Given the description of an element on the screen output the (x, y) to click on. 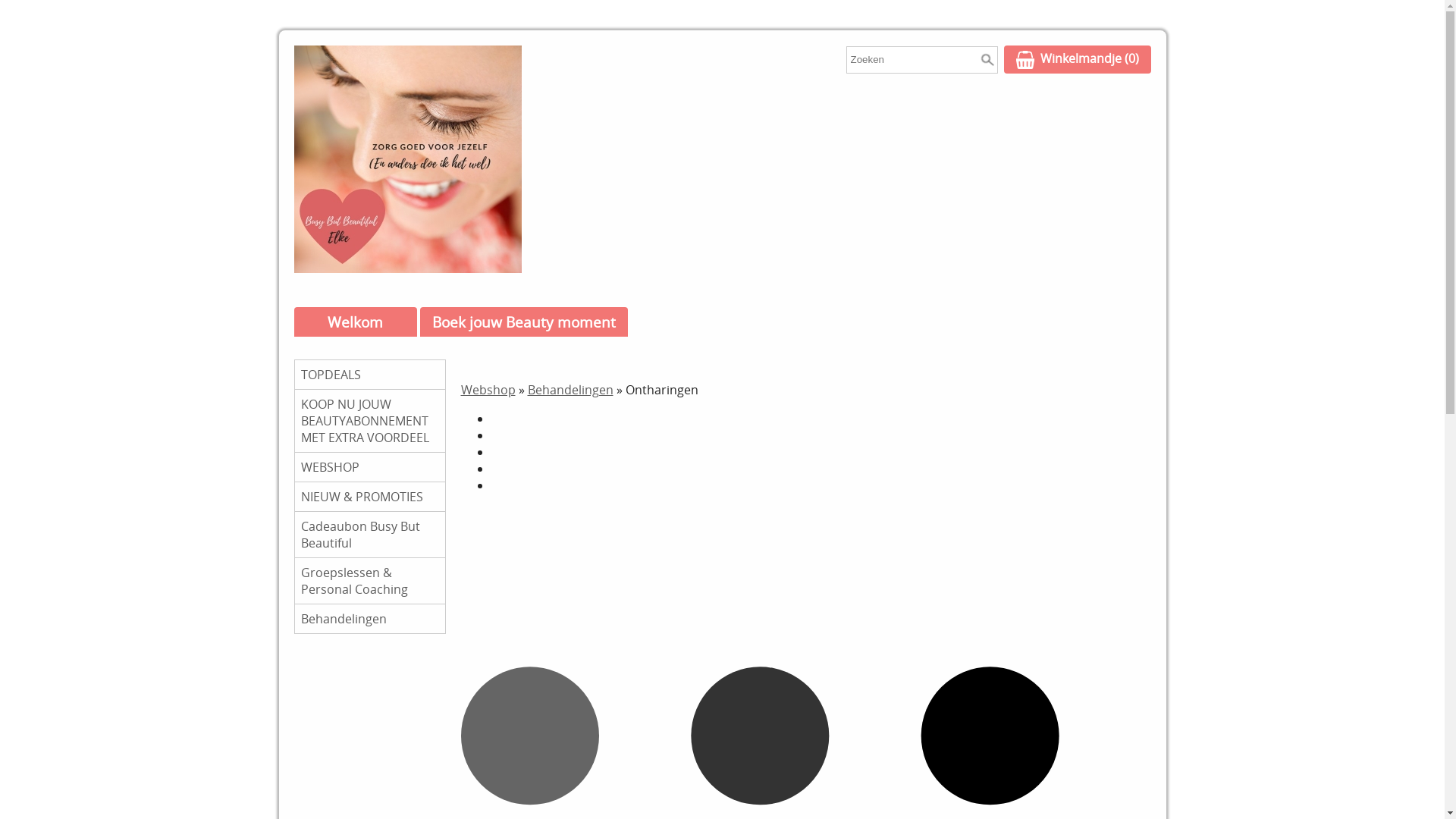
Welkom Element type: text (355, 321)
WEBSHOP Element type: text (369, 466)
Webshop Element type: text (488, 389)
Behandelingen Element type: text (570, 389)
WinkelmandjeWinkelmandje (0) Element type: text (1077, 59)
NIEUW & PROMOTIES Element type: text (369, 496)
Behandelingen Element type: text (369, 618)
Groepslessen & Personal Coaching Element type: text (369, 580)
Cadeaubon Busy But Beautiful Element type: text (369, 534)
TOPDEALS Element type: text (369, 374)
KOOP NU JOUW BEAUTYABONNEMENT MET EXTRA VOORDEEL Element type: text (369, 420)
Boek jouw Beauty moment Element type: text (523, 321)
